Given the description of an element on the screen output the (x, y) to click on. 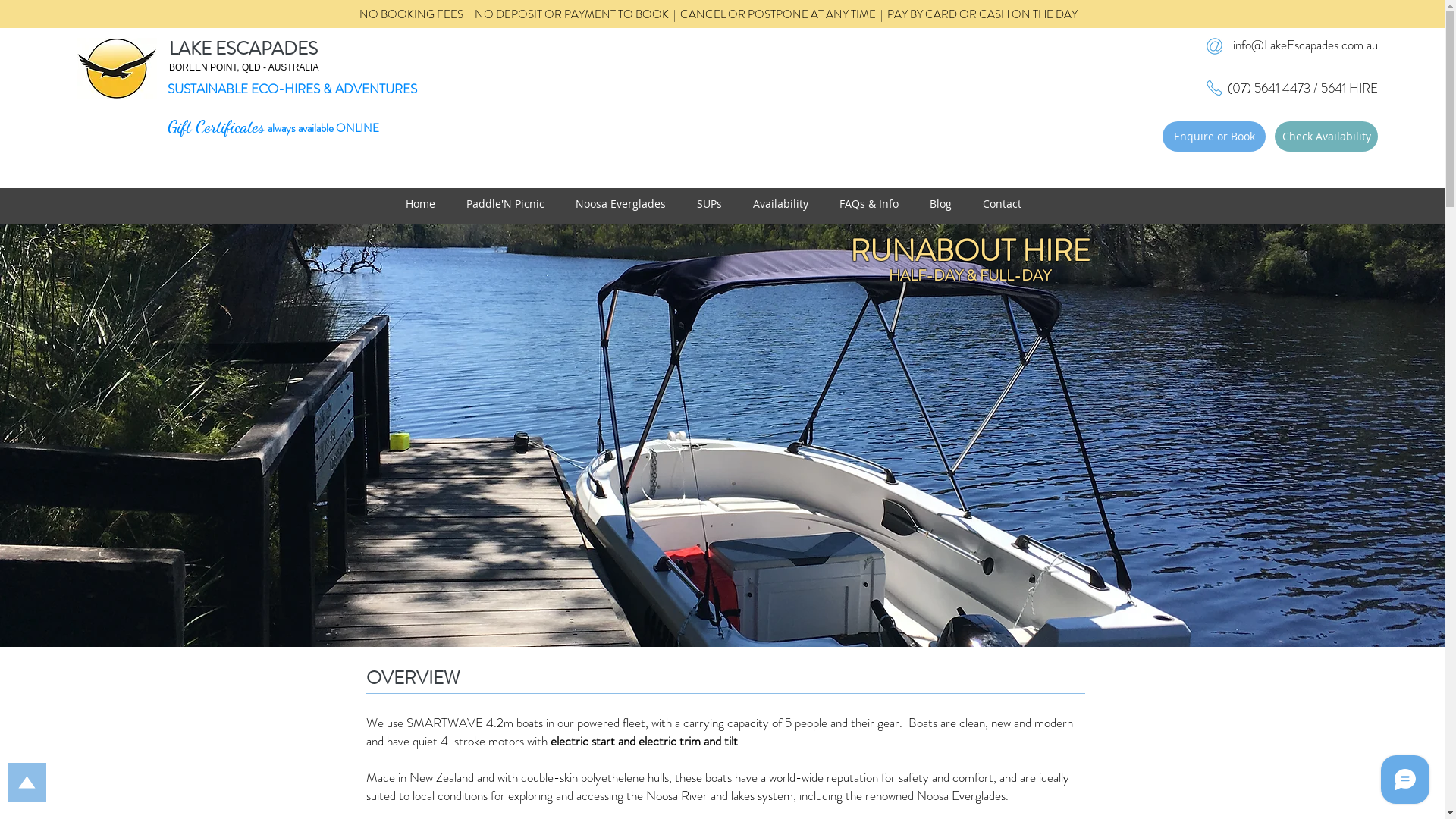
info@LakeEscapades.com.au Element type: text (1305, 44)
Blog Element type: text (948, 203)
Check Availability Element type: text (1325, 136)
LAKE ESCAPADES Element type: text (243, 48)
Home Element type: text (427, 203)
Availability Element type: text (787, 203)
Enquire or Book Element type: text (1213, 136)
Contact Element type: text (1009, 203)
ONLINE Element type: text (357, 127)
SUPs Element type: text (716, 203)
